Given the description of an element on the screen output the (x, y) to click on. 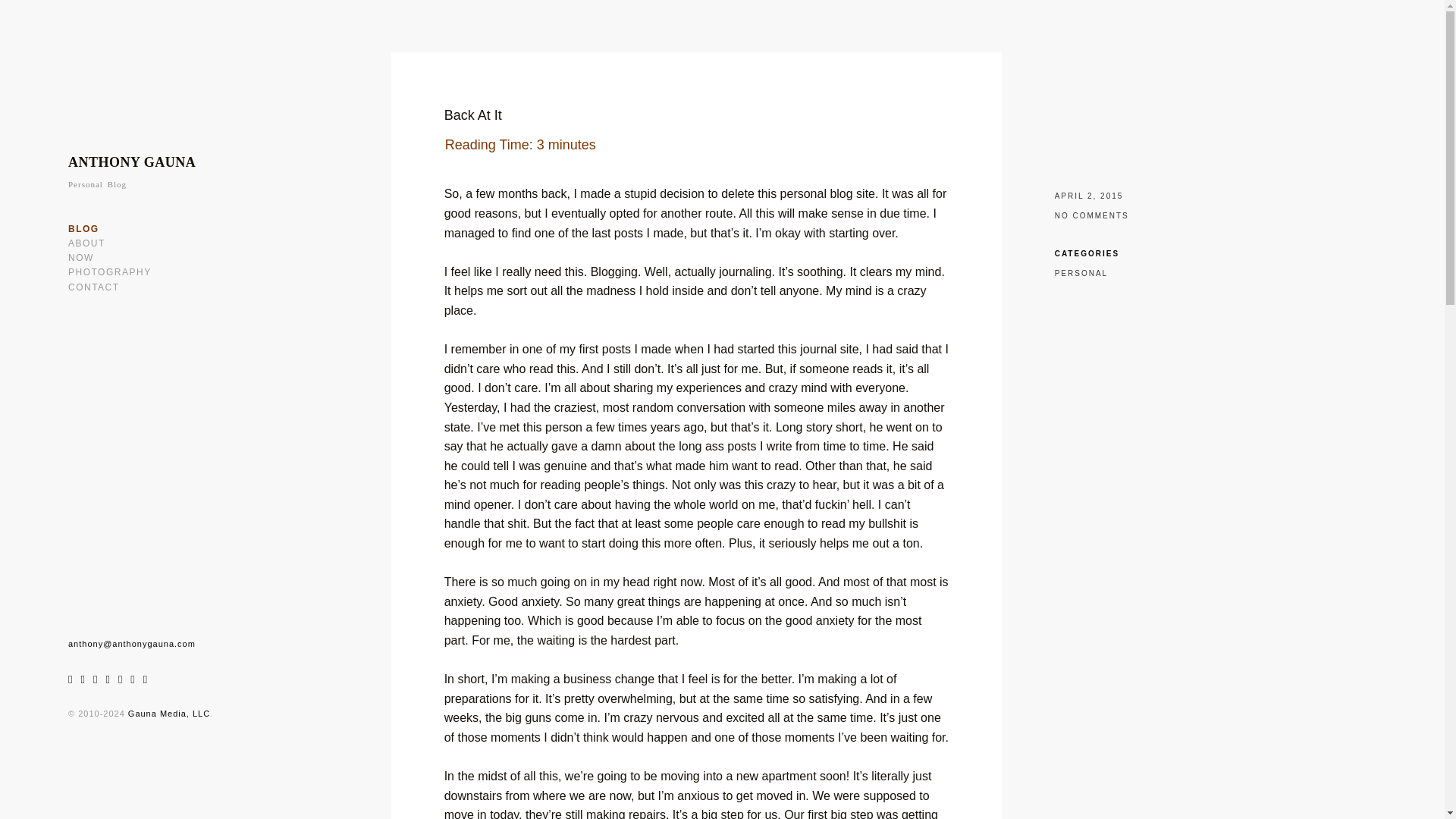
NO COMMENTS (1091, 215)
PERSONAL (1081, 273)
Gauna Media, LLC (168, 713)
CONTACT (93, 286)
APRIL 2, 2015 (1089, 195)
NOW (81, 257)
PHOTOGRAPHY (109, 271)
ABOUT (86, 243)
BLOG (83, 228)
ANTHONY GAUNA (131, 162)
